Given the description of an element on the screen output the (x, y) to click on. 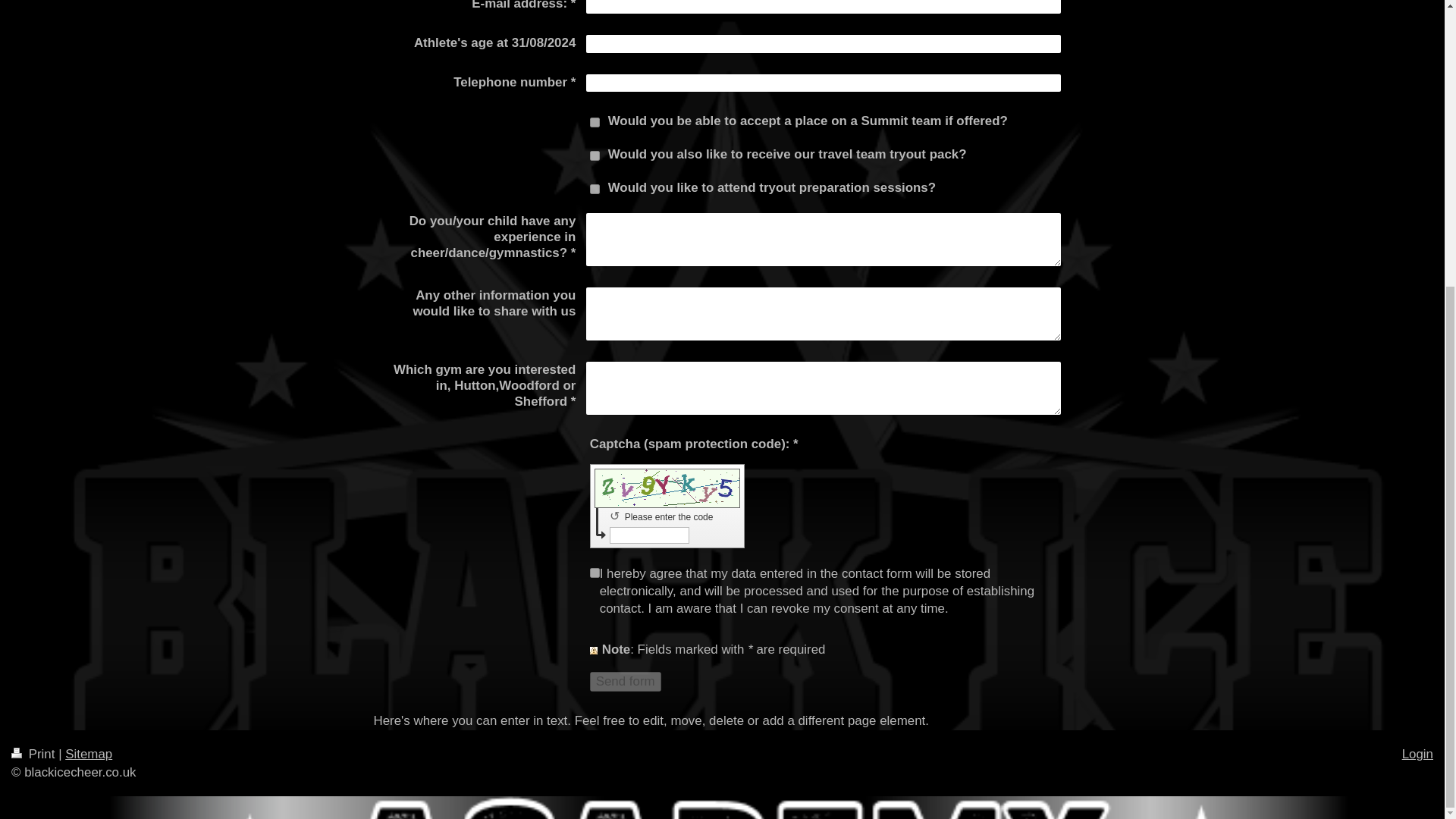
on (594, 155)
Print (34, 753)
Generate new code (617, 515)
Send form (625, 681)
Send form (625, 681)
Login (1417, 753)
on (594, 122)
Sitemap (88, 753)
on (594, 573)
on (594, 189)
